Given the description of an element on the screen output the (x, y) to click on. 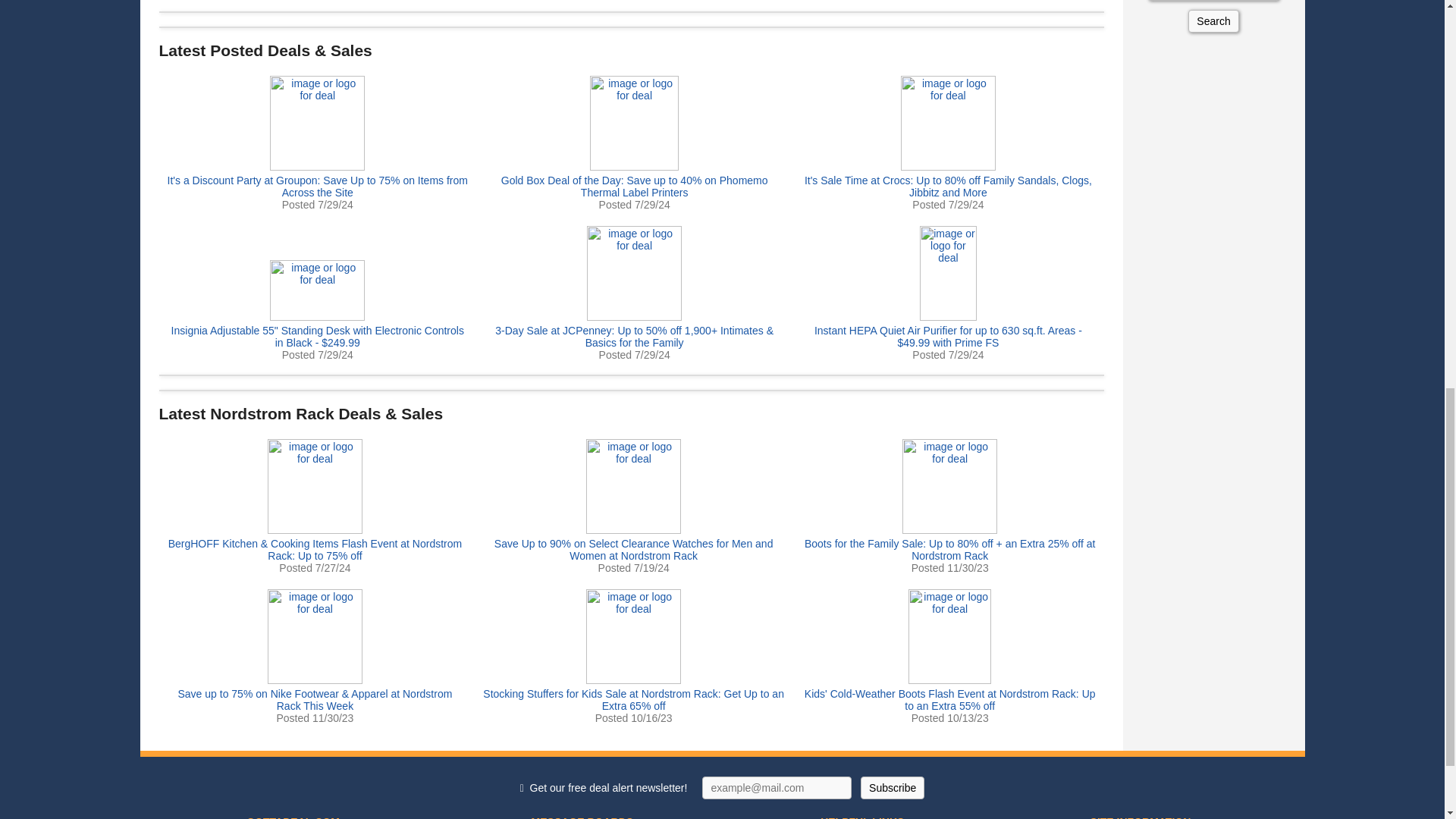
Subscribe (892, 787)
